Given the description of an element on the screen output the (x, y) to click on. 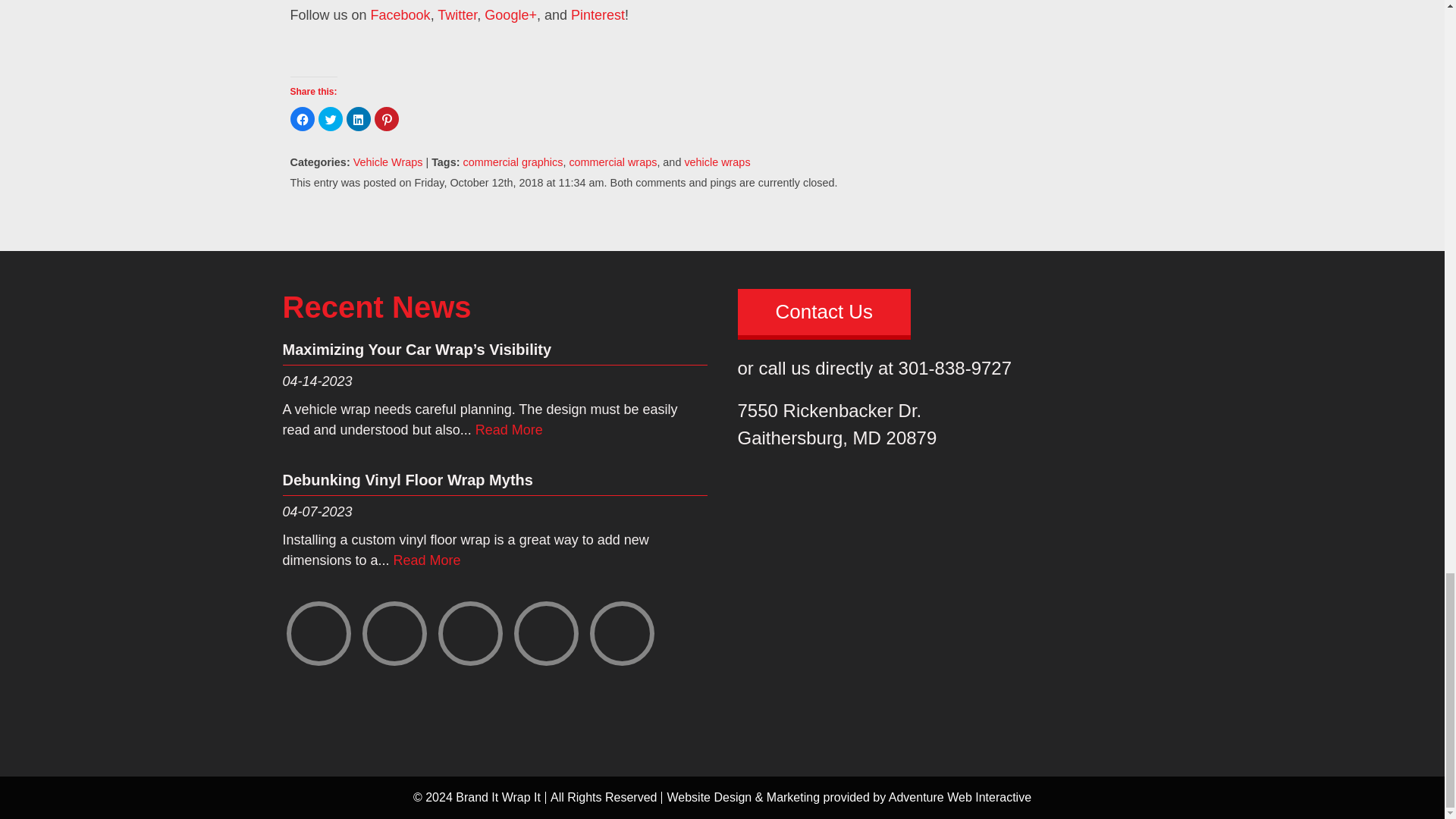
Twitter (455, 14)
Click to share on Twitter (330, 119)
Vehicle Wraps (388, 162)
Click to share on Pinterest (386, 119)
commercial graphics (512, 162)
Facebook (398, 14)
Pinterest (595, 14)
commercial wraps (612, 162)
vehicle wraps (716, 162)
Click to share on LinkedIn (357, 119)
